Given the description of an element on the screen output the (x, y) to click on. 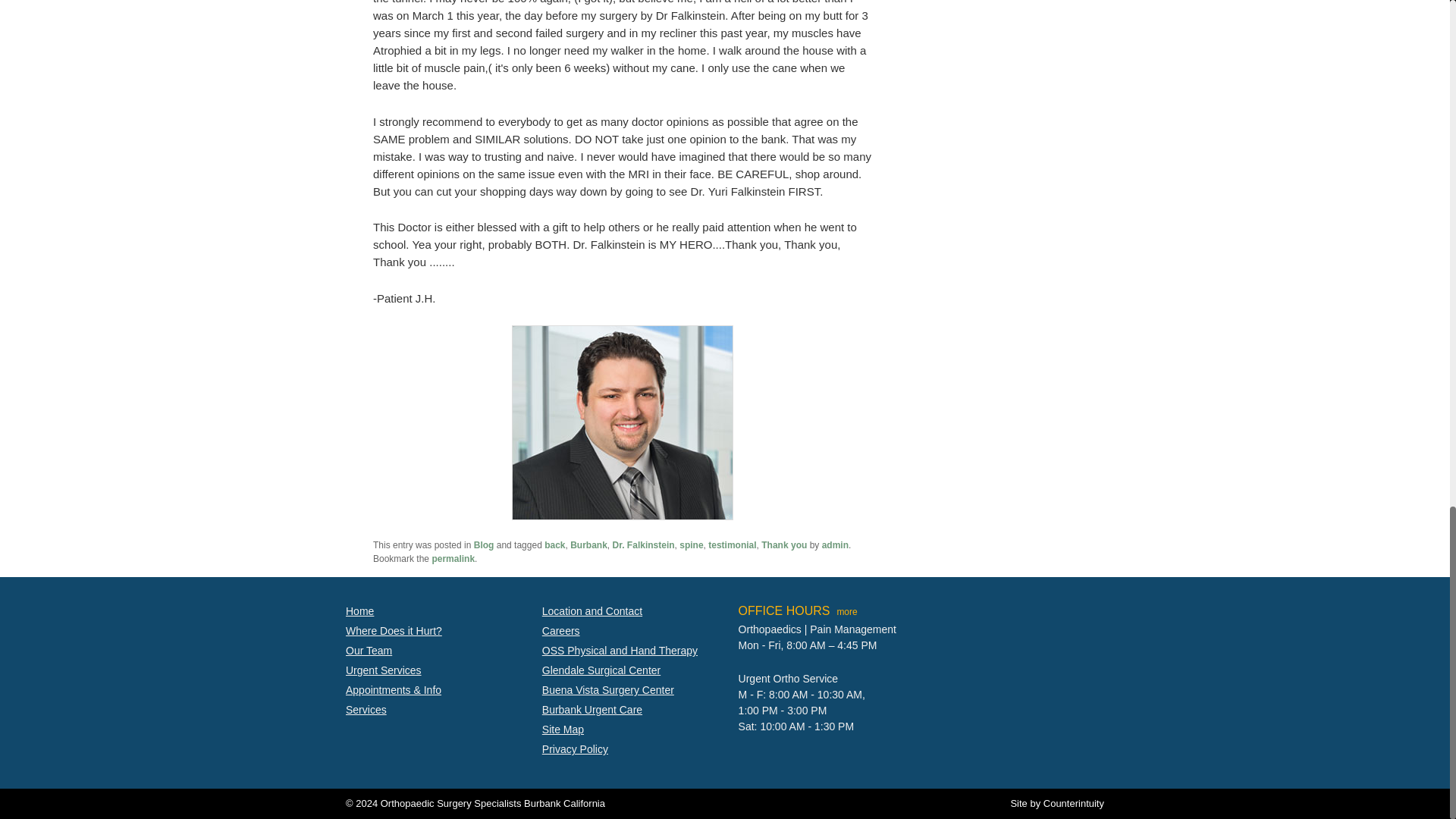
Orthopaedic Surgery Specialists Burbank California (492, 803)
Permalink to My Hero! (452, 558)
